Given the description of an element on the screen output the (x, y) to click on. 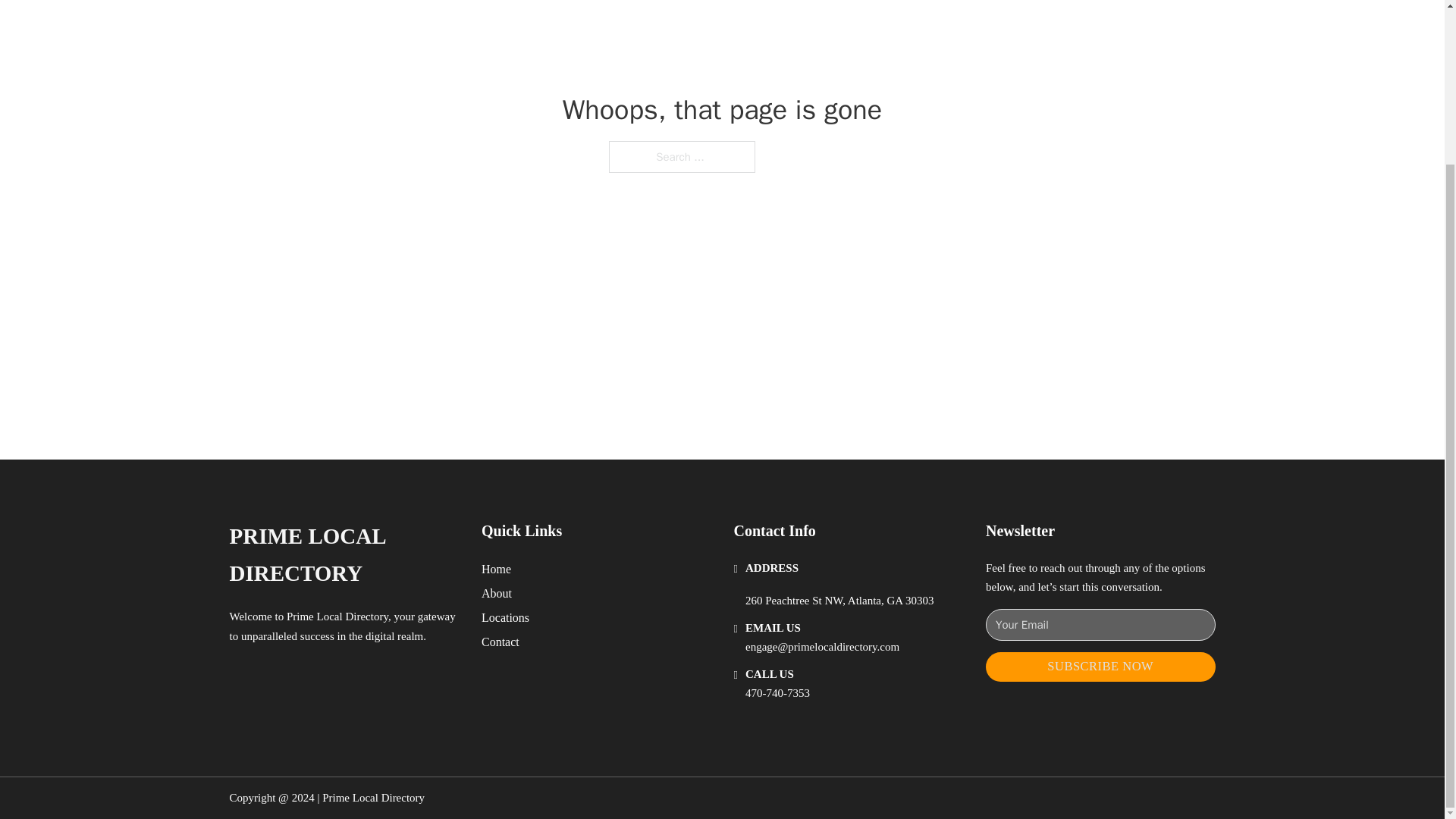
470-740-7353 (777, 693)
Locations (505, 617)
Home (496, 568)
SUBSCRIBE NOW (1100, 666)
PRIME LOCAL DIRECTORY (343, 554)
Contact (500, 641)
About (496, 593)
